Given the description of an element on the screen output the (x, y) to click on. 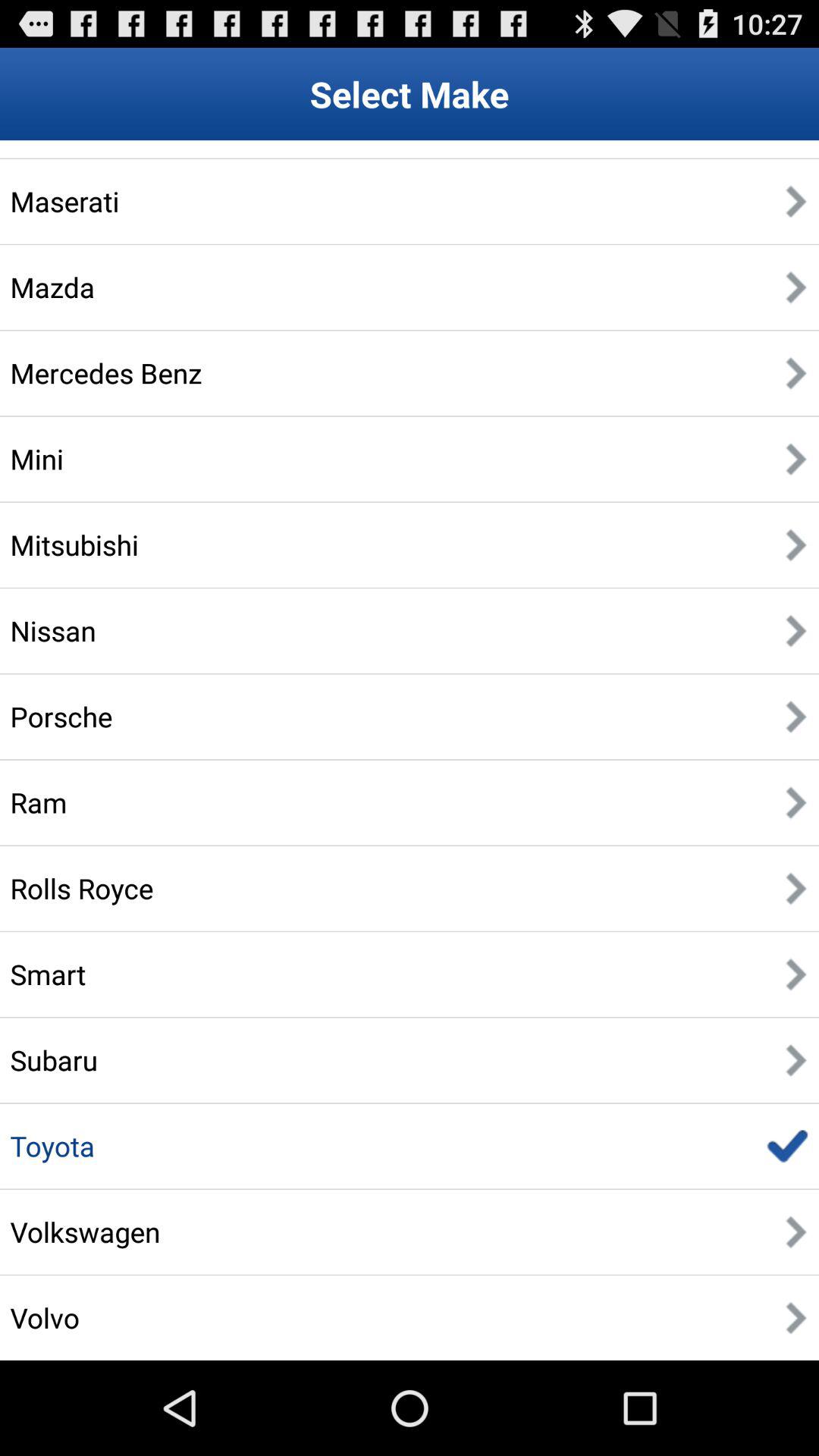
select icon above the mazda (64, 201)
